Given the description of an element on the screen output the (x, y) to click on. 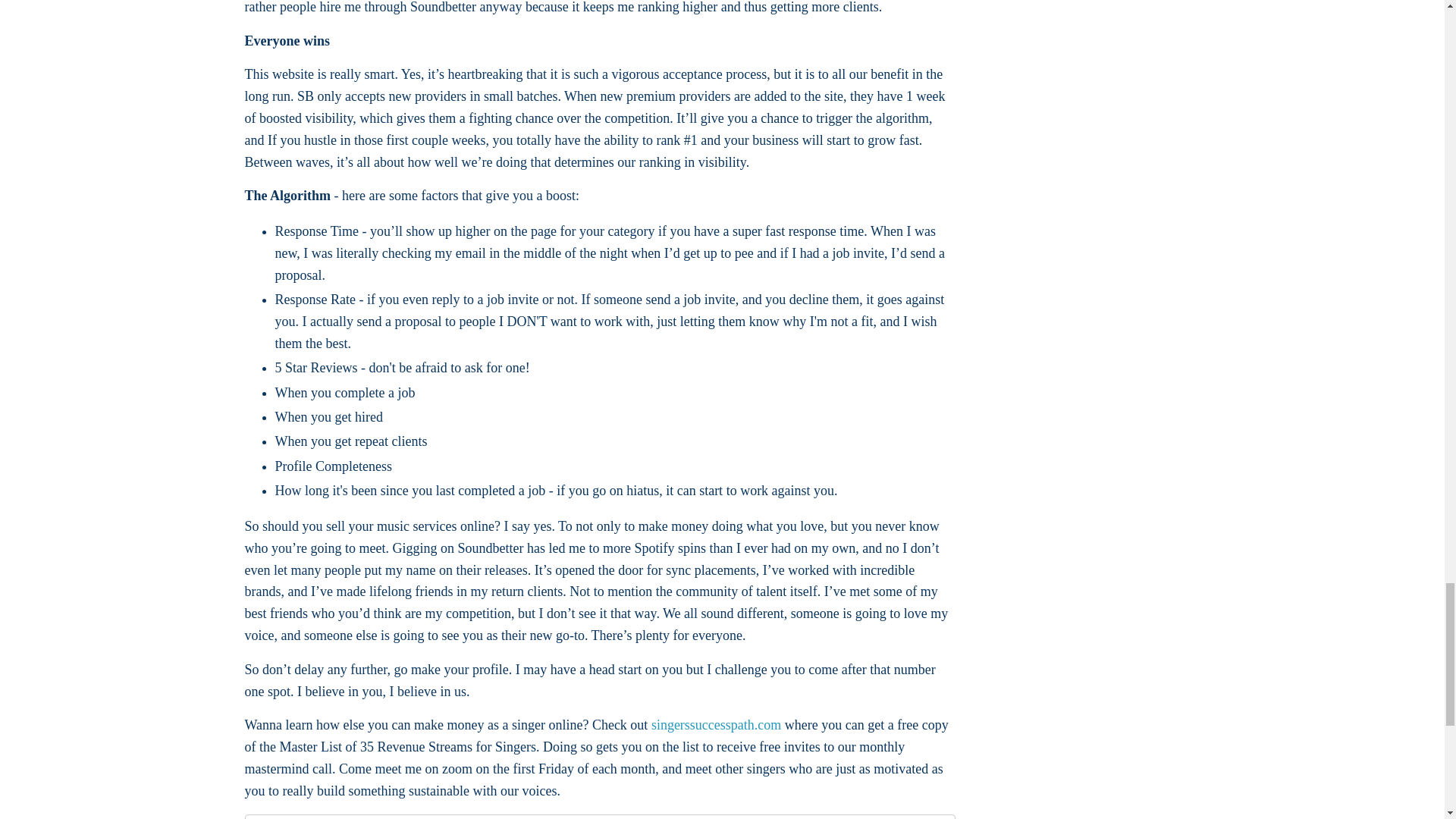
singerssuccesspath.com (715, 724)
